Given the description of an element on the screen output the (x, y) to click on. 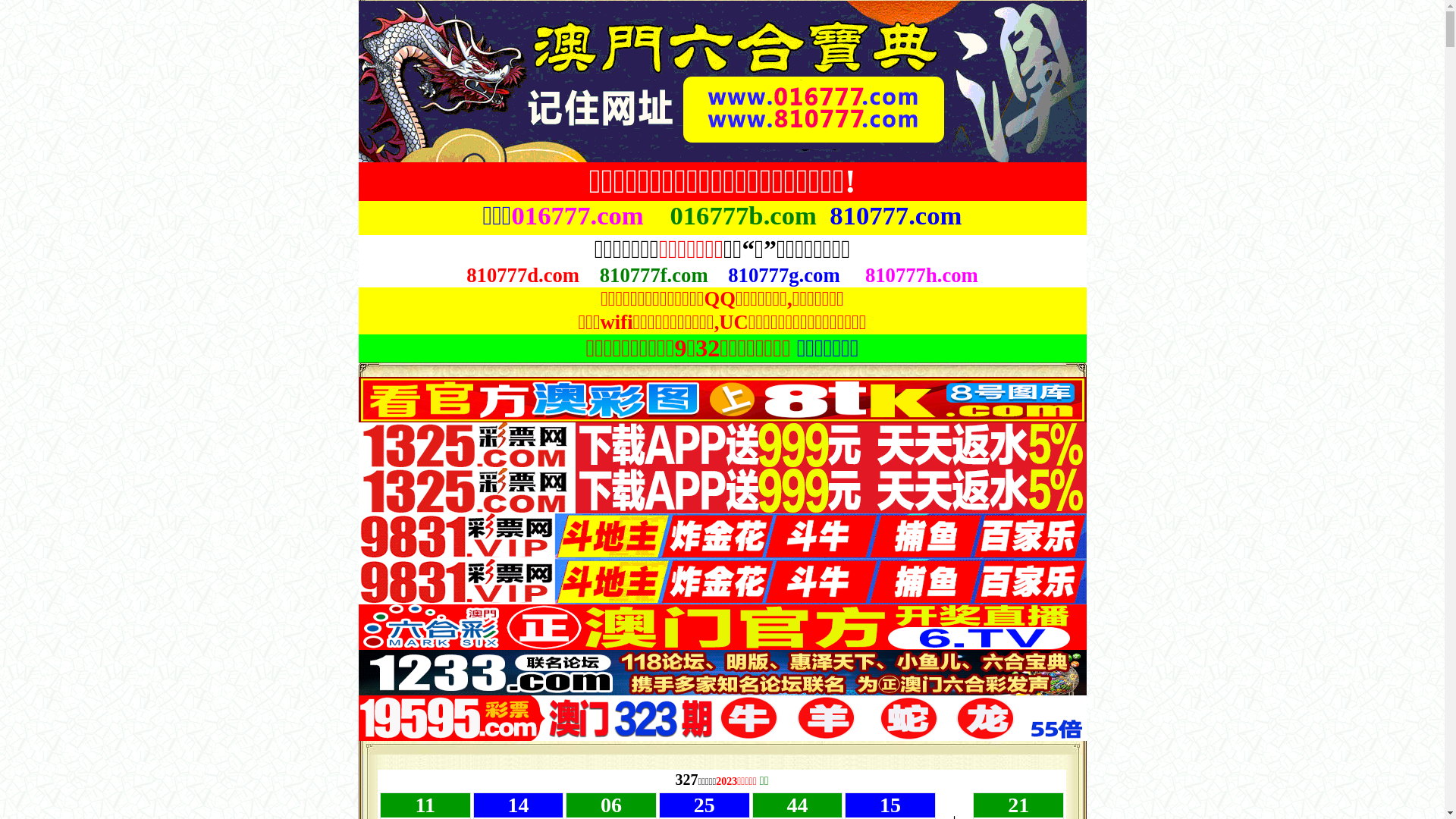
810777g.co Element type: text (775, 274)
810777f.com Element type: text (653, 277)
